Given the description of an element on the screen output the (x, y) to click on. 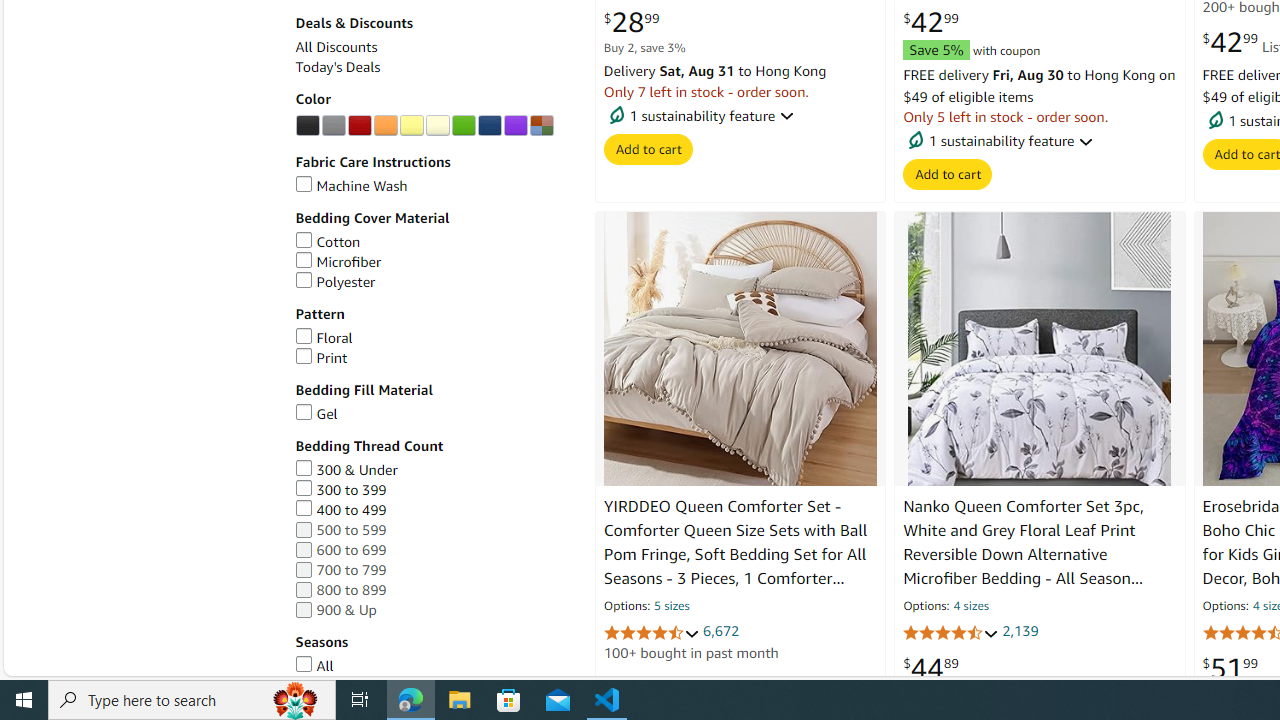
AutomationID: p_n_feature_twenty_browse-bin/3254107011 (437, 125)
$44.89 (930, 668)
2,139 (1020, 632)
Today's Deals (337, 67)
$44.99 (631, 689)
Multi (541, 125)
AutomationID: p_n_feature_twenty_browse-bin/3254108011 (463, 125)
Polyester (335, 282)
AutomationID: p_n_feature_twenty_browse-bin/3254098011 (307, 125)
AutomationID: p_n_feature_twenty_browse-bin/3254106011 (411, 125)
300 to 399 (434, 489)
Red (359, 125)
AutomationID: p_n_feature_twenty_browse-bin/3254105011 (385, 125)
Machine Wash (351, 185)
